Given the description of an element on the screen output the (x, y) to click on. 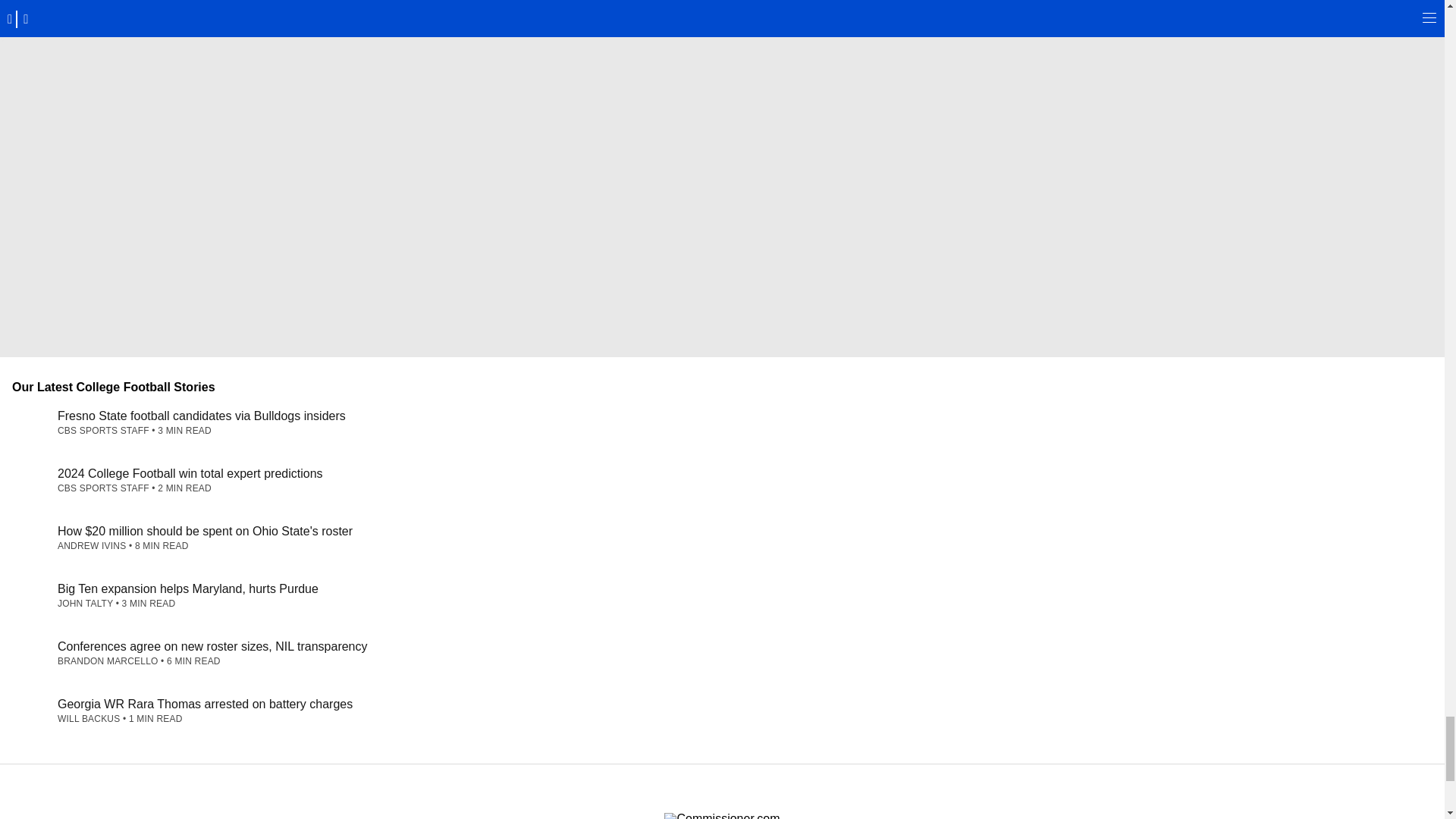
Georgia WR Rara Thomas arrested on battery charges (205, 703)
CBS Sports Digital (720, 816)
Big Ten expansion helps Maryland, hurts Purdue (188, 588)
Fresno State football candidates via Bulldogs insiders (202, 415)
Conferences agree on new roster sizes, NIL transparency (213, 645)
2024 College Football win total expert predictions (190, 472)
